Given the description of an element on the screen output the (x, y) to click on. 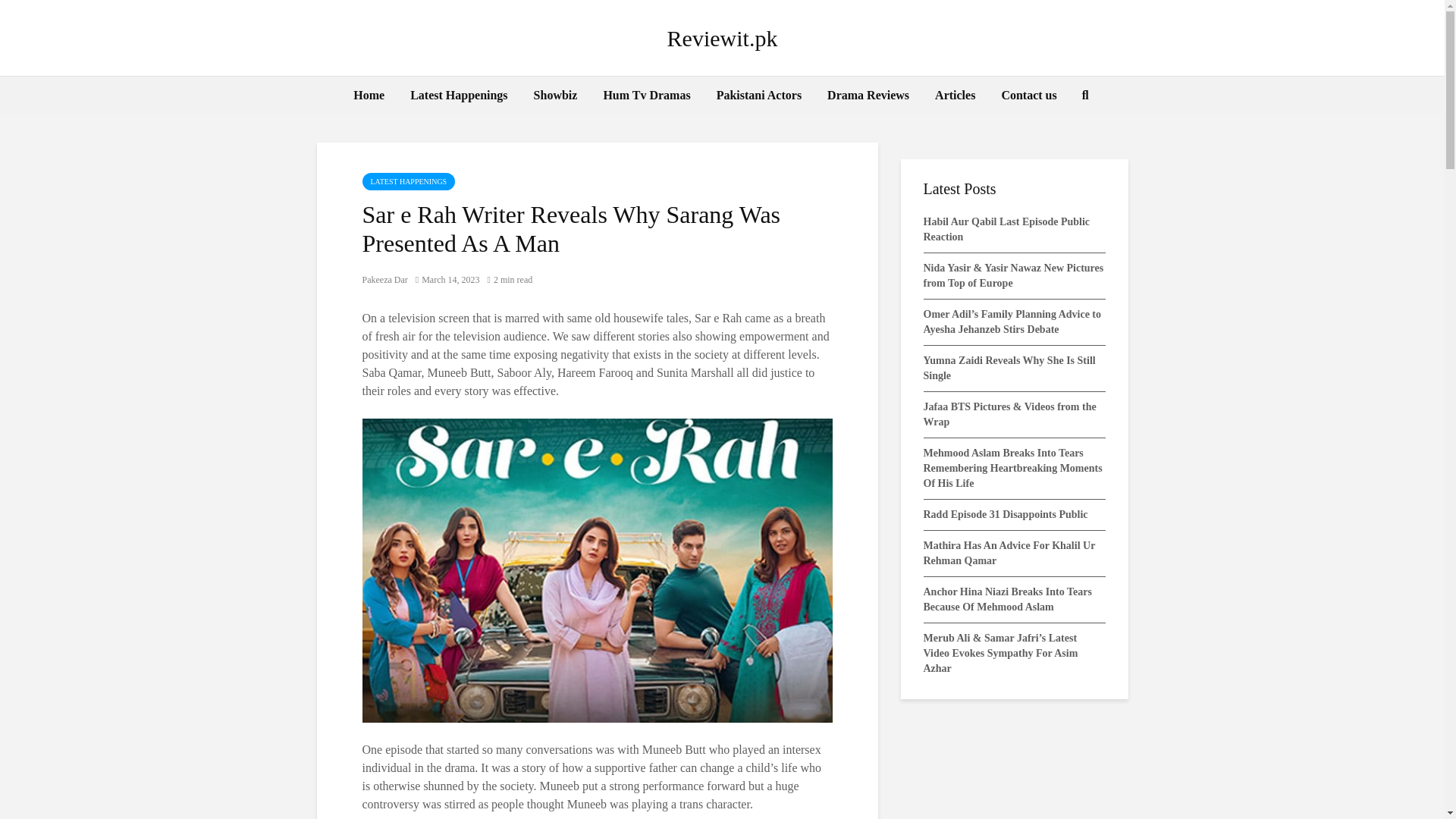
Contact us (1028, 95)
Reviewit.pk (721, 37)
Hum Tv Dramas (646, 95)
Latest Happenings (458, 95)
Showbiz (555, 95)
Drama Reviews (867, 95)
Hum Tv Dramas (646, 95)
LATEST HAPPENINGS (408, 181)
Articles (955, 95)
Pakeeza Dar (384, 279)
Home (369, 95)
Pakistani Actors (758, 95)
